Given the description of an element on the screen output the (x, y) to click on. 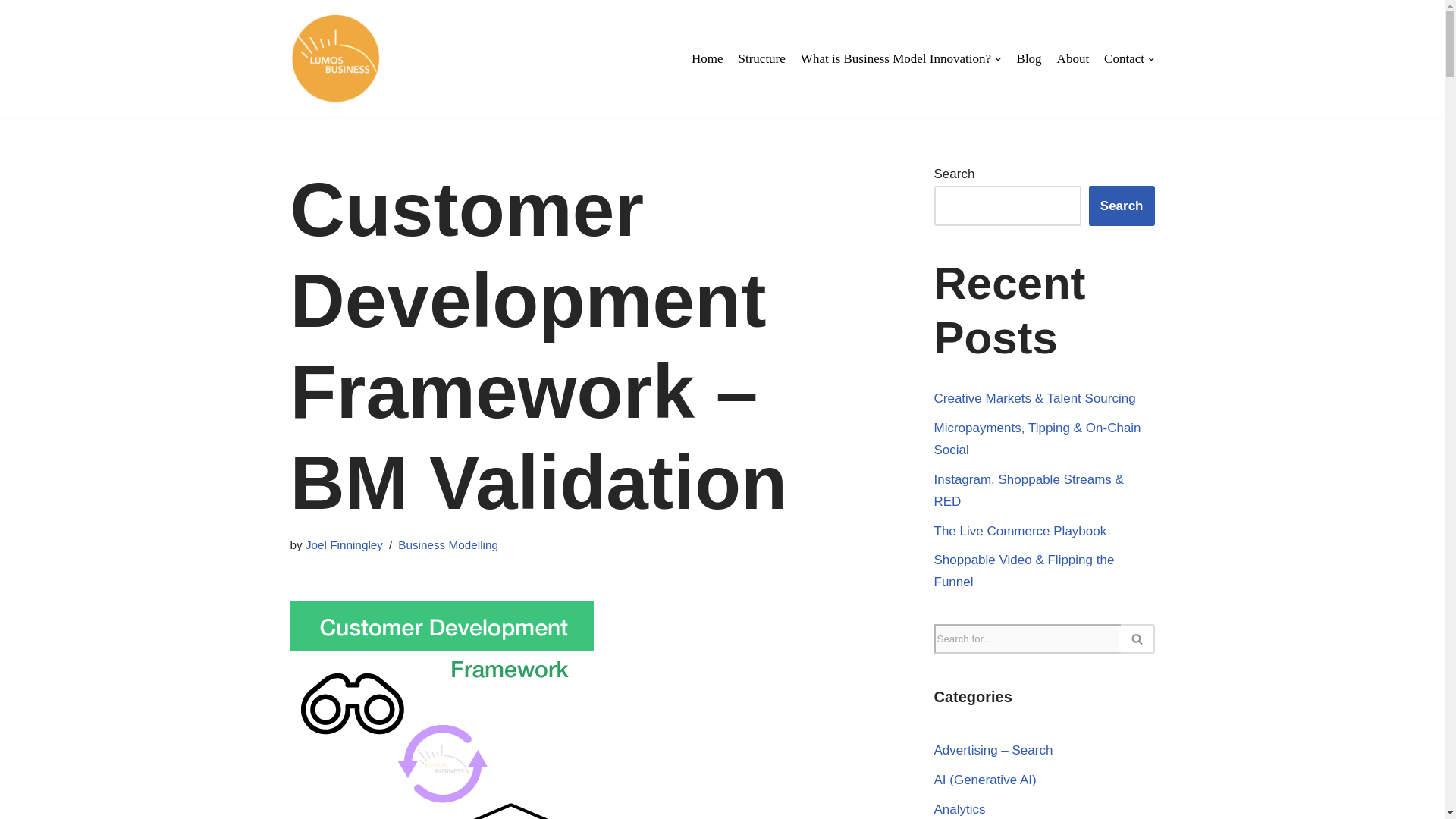
Business Modelling (447, 544)
What is Business Model Innovation? (900, 58)
Structure (762, 58)
Skip to content (11, 31)
Joel Finningley (343, 544)
Blog (1029, 58)
Posts by Joel Finningley (343, 544)
About (1073, 58)
Business Models Innovation (334, 58)
Home (707, 58)
Contact (1128, 58)
